Given the description of an element on the screen output the (x, y) to click on. 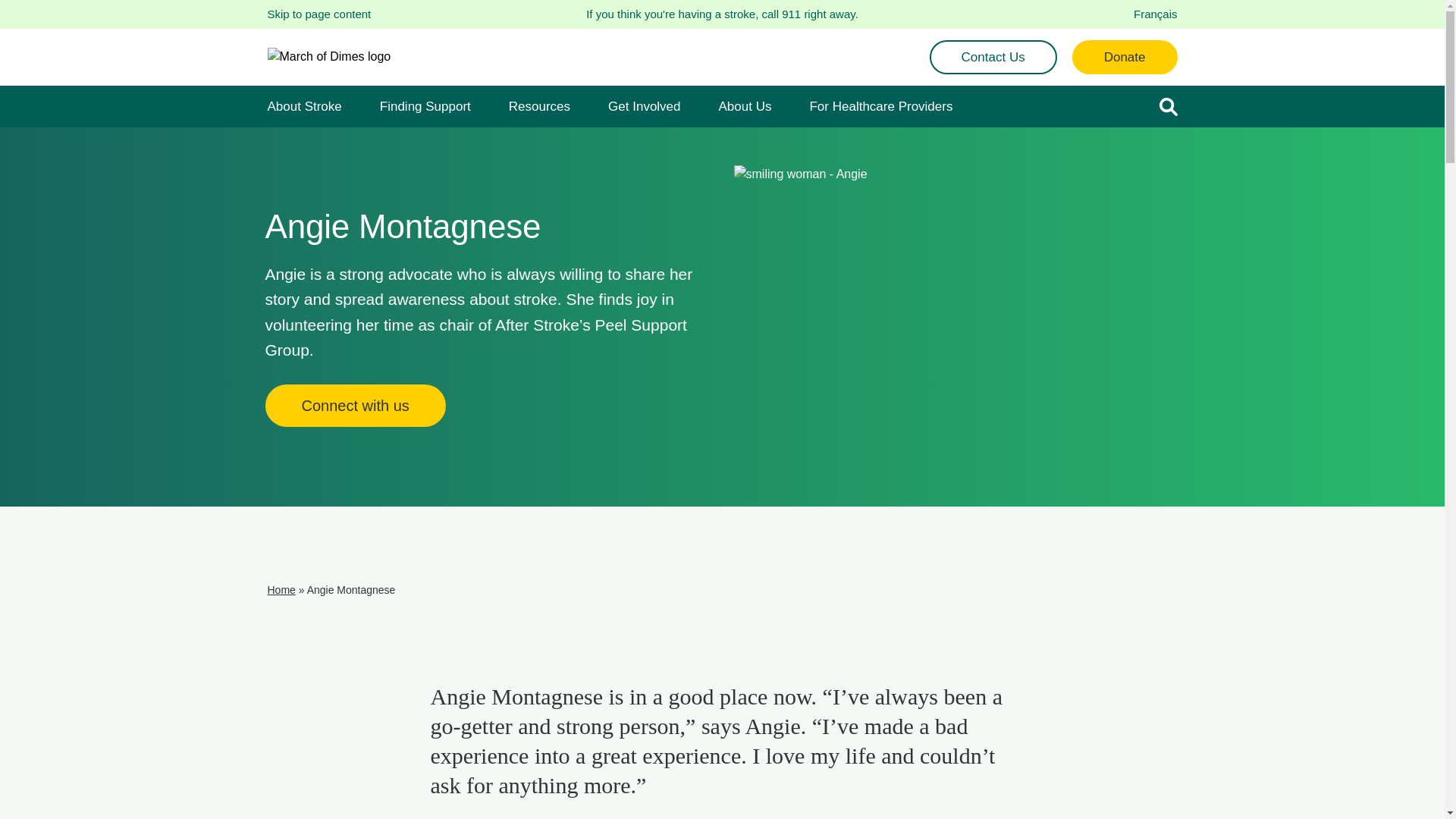
Contact Us Element type: text (993, 57)
For Healthcare Providers Element type: text (880, 106)
Resources Element type: text (539, 106)
About Stroke Element type: text (303, 106)
Home Element type: text (280, 589)
Skip to page content Element type: text (318, 14)
Connect with us Element type: text (355, 405)
Donate Element type: text (1124, 57)
Finding Support Element type: text (424, 106)
Get Involved Element type: text (644, 106)
About Us Element type: text (744, 106)
